Given the description of an element on the screen output the (x, y) to click on. 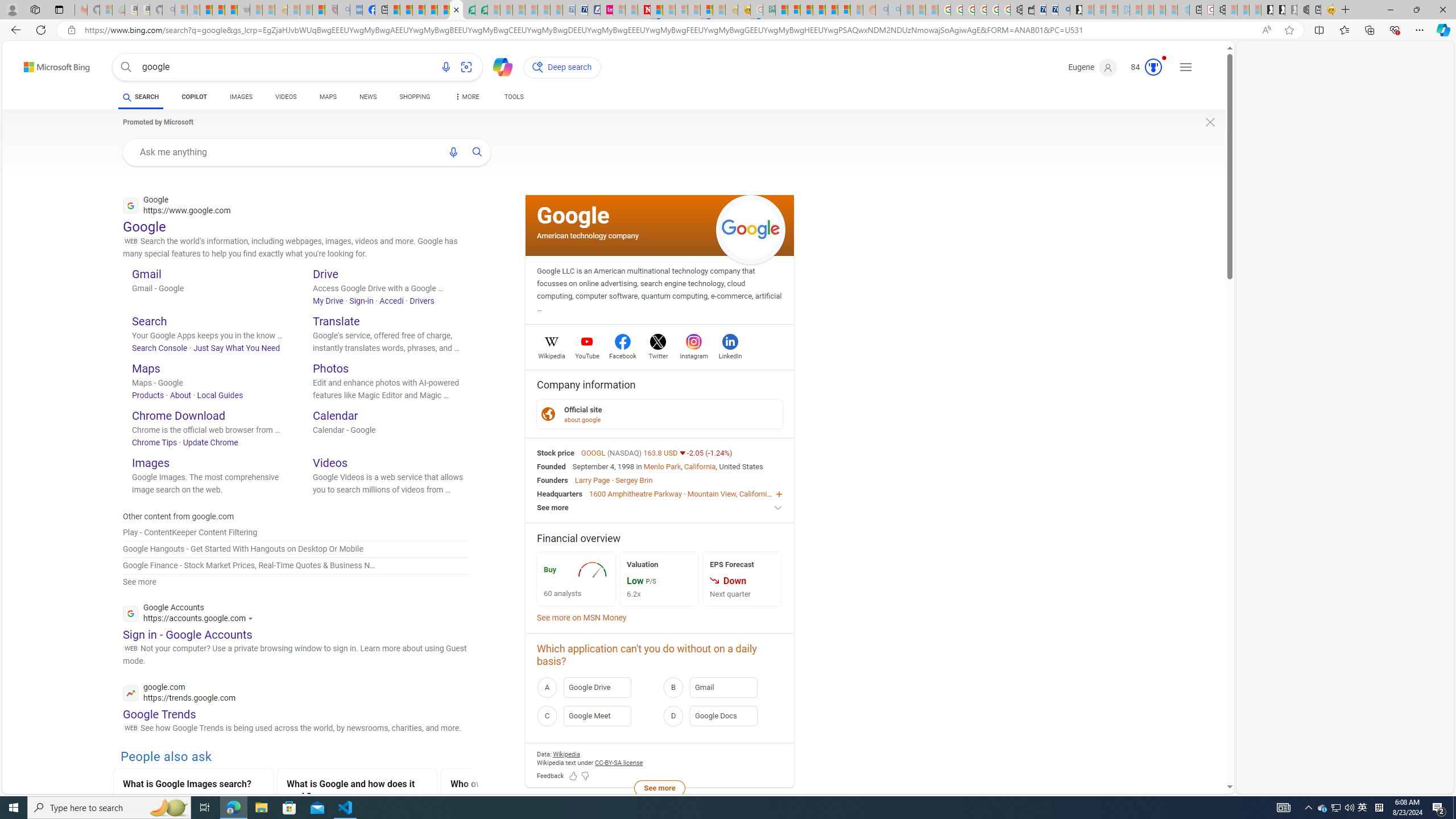
Sign in - Google Accounts (186, 634)
Jobs - lastminute.com Investor Portal (606, 9)
YouTube (587, 354)
SEARCH (140, 96)
Photos (331, 368)
Founders (552, 479)
Calendar (335, 415)
Sign-in (361, 300)
